Given the description of an element on the screen output the (x, y) to click on. 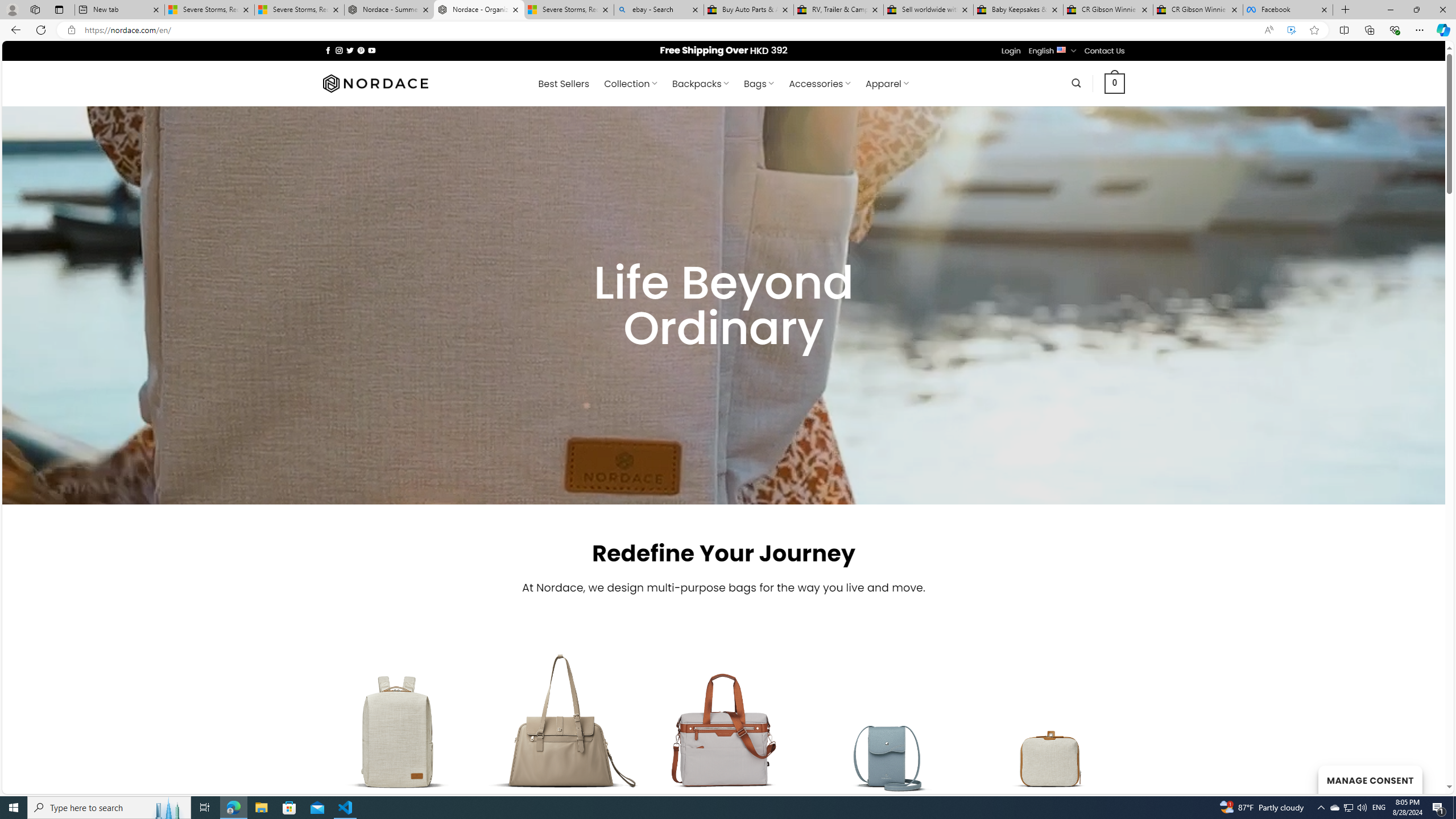
RV, Trailer & Camper Steps & Ladders for sale | eBay (838, 9)
Follow on Facebook (327, 49)
Contact Us (1104, 50)
MANAGE CONSENT (1369, 779)
